Given the description of an element on the screen output the (x, y) to click on. 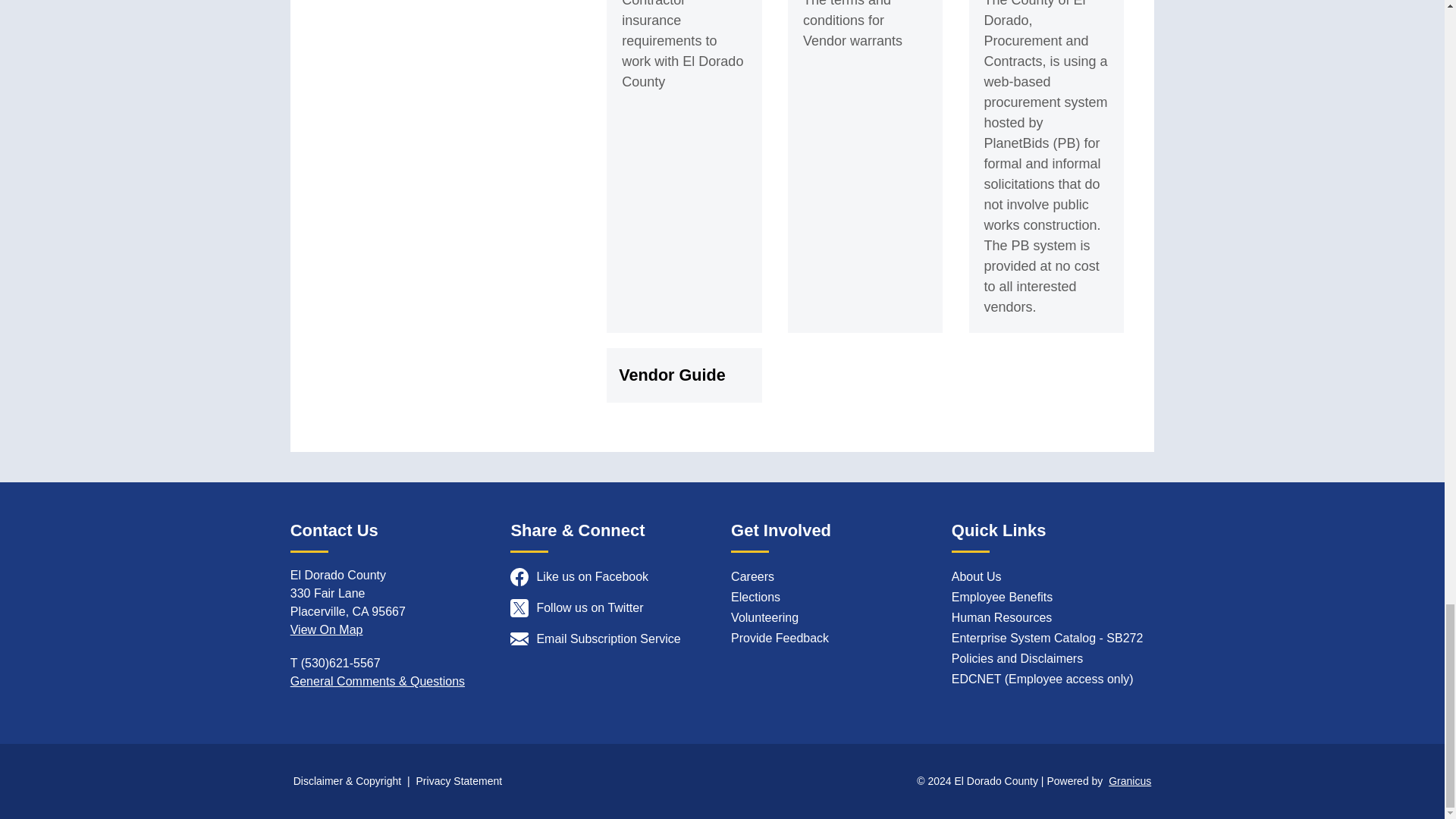
View On Map (325, 629)
